Given the description of an element on the screen output the (x, y) to click on. 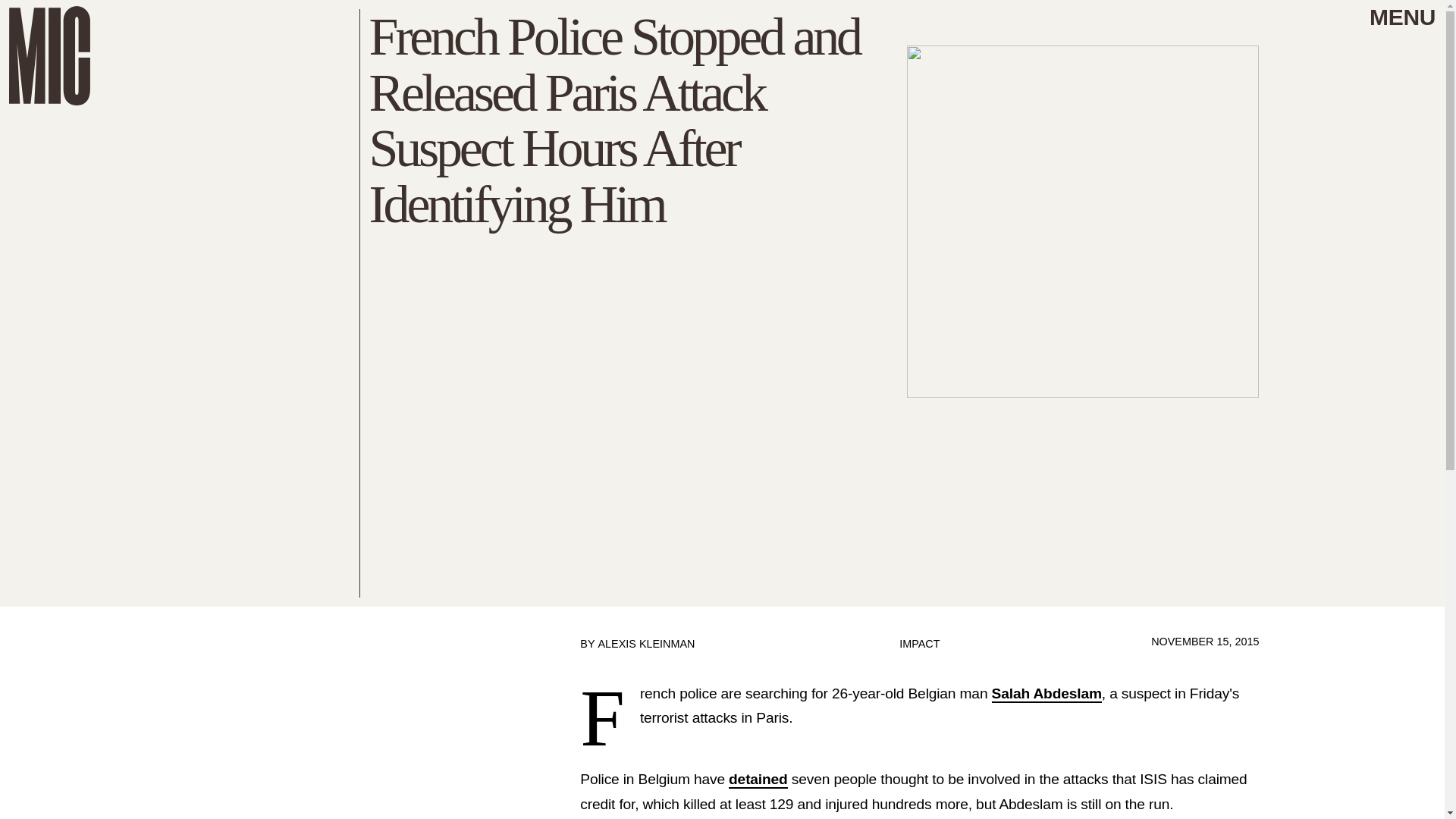
Salah Abdeslam (1046, 693)
ALEXIS KLEINMAN (645, 644)
detained (758, 779)
